Given the description of an element on the screen output the (x, y) to click on. 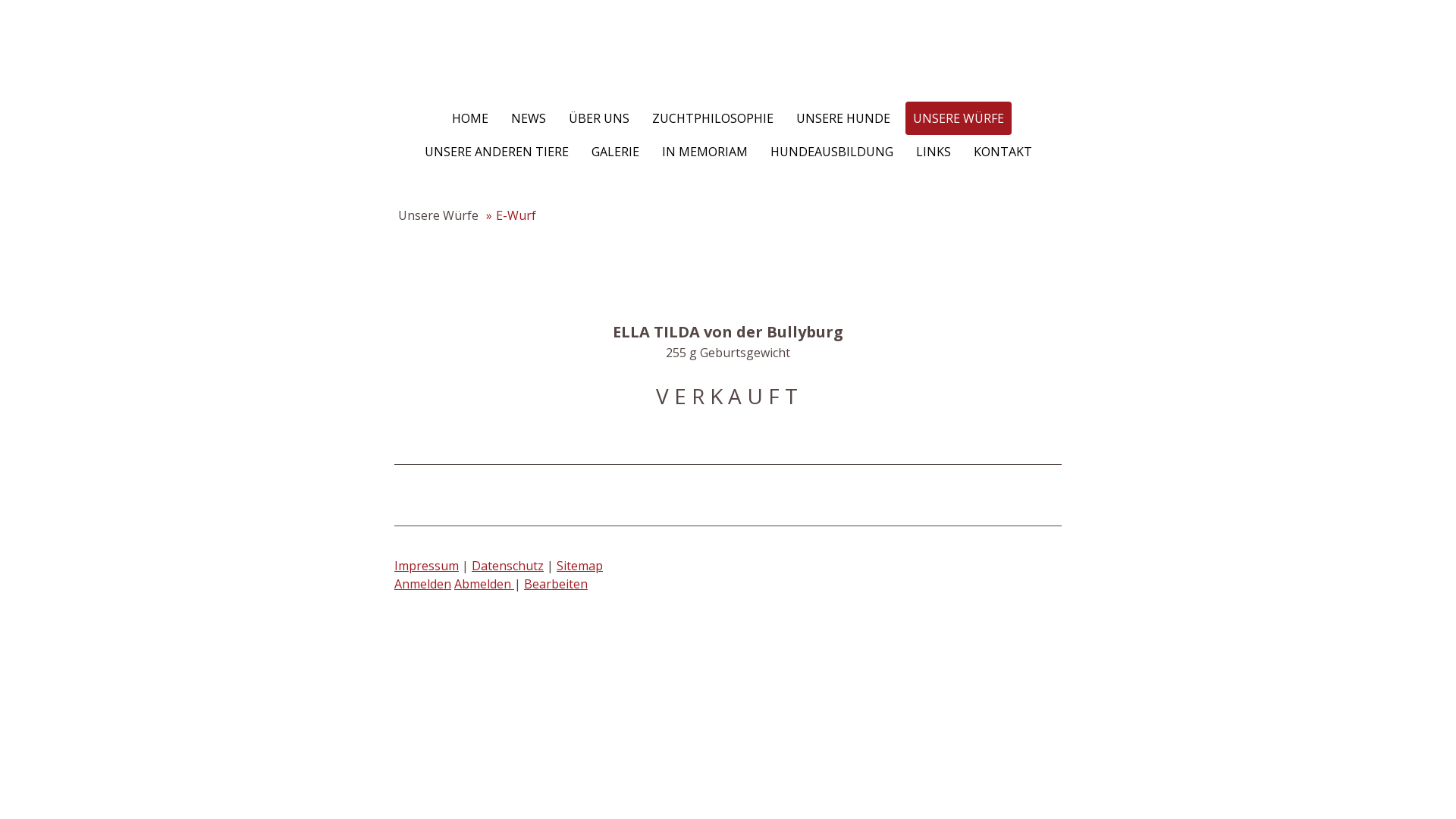
UNSERE HUNDE Element type: text (842, 117)
Datenschutz Element type: text (507, 565)
HOME Element type: text (469, 117)
Sitemap Element type: text (579, 565)
NEWS Element type: text (528, 117)
E-Wurf Element type: text (511, 215)
GALERIE Element type: text (614, 151)
HUNDEAUSBILDUNG Element type: text (831, 151)
Impressum Element type: text (426, 565)
IN MEMORIAM Element type: text (703, 151)
UNSERE ANDEREN TIERE Element type: text (496, 151)
ZUCHTPHILOSOPHIE Element type: text (712, 117)
KONTAKT Element type: text (1002, 151)
Bearbeiten Element type: text (555, 583)
Abmelden Element type: text (484, 583)
LINKS Element type: text (933, 151)
Anmelden Element type: text (422, 583)
